Given the description of an element on the screen output the (x, y) to click on. 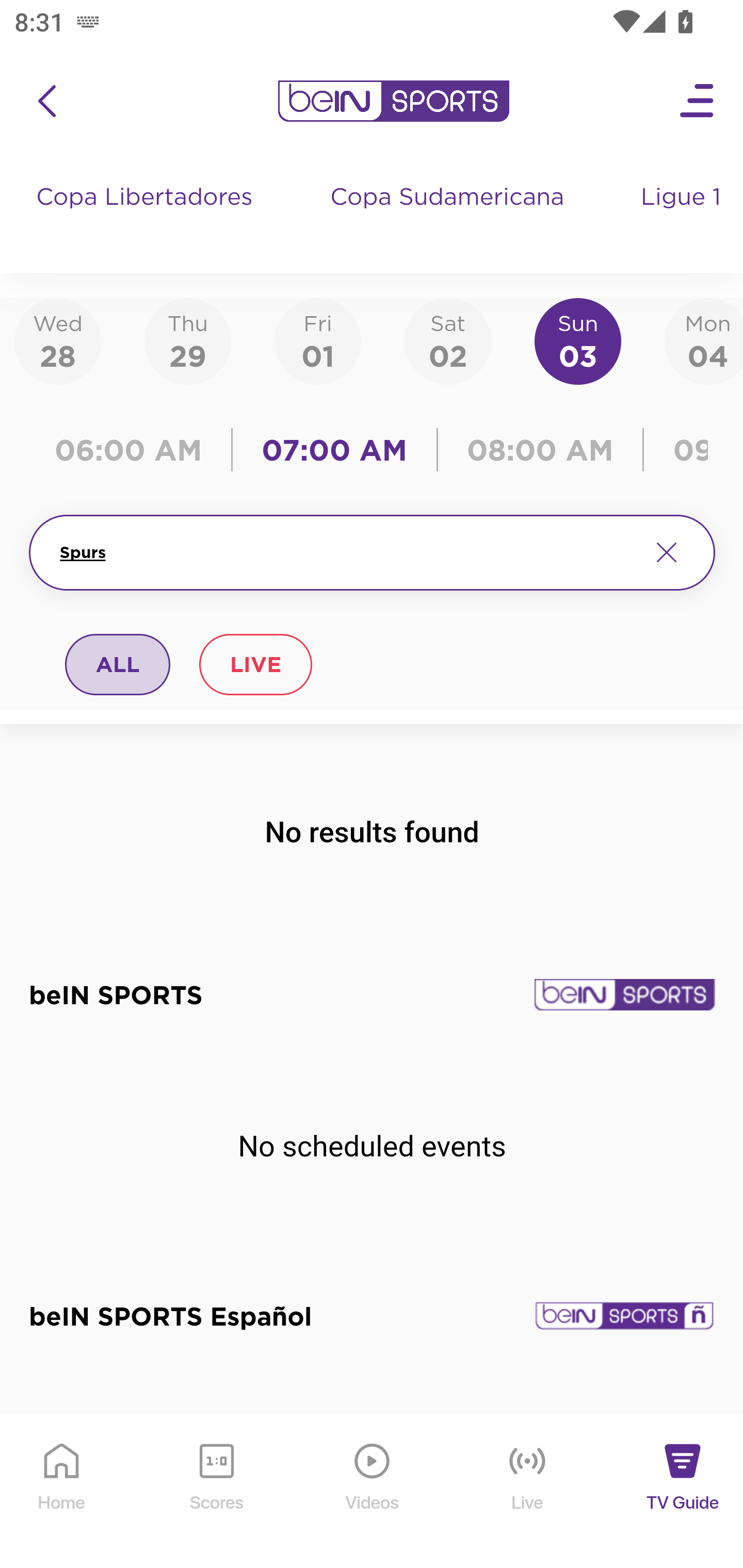
en-us?platform=mobile_android bein logo (392, 101)
icon back (46, 101)
Open Menu Icon (697, 101)
Copa Libertadores (146, 216)
Copa Sudamericana (448, 216)
Ligue 1 (682, 216)
Wed28 (58, 340)
Thu29 (187, 340)
Fri01 (318, 340)
Sat02 (447, 340)
Sun03 (578, 340)
Mon04 (703, 340)
06:00 AM (135, 449)
07:00 AM (334, 449)
08:00 AM (540, 449)
Spurs (346, 552)
ALL (118, 663)
LIVE (255, 663)
Home Home Icon Home (61, 1491)
Scores Scores Icon Scores (216, 1491)
Videos Videos Icon Videos (372, 1491)
TV Guide TV Guide Icon TV Guide (682, 1491)
